Given the description of an element on the screen output the (x, y) to click on. 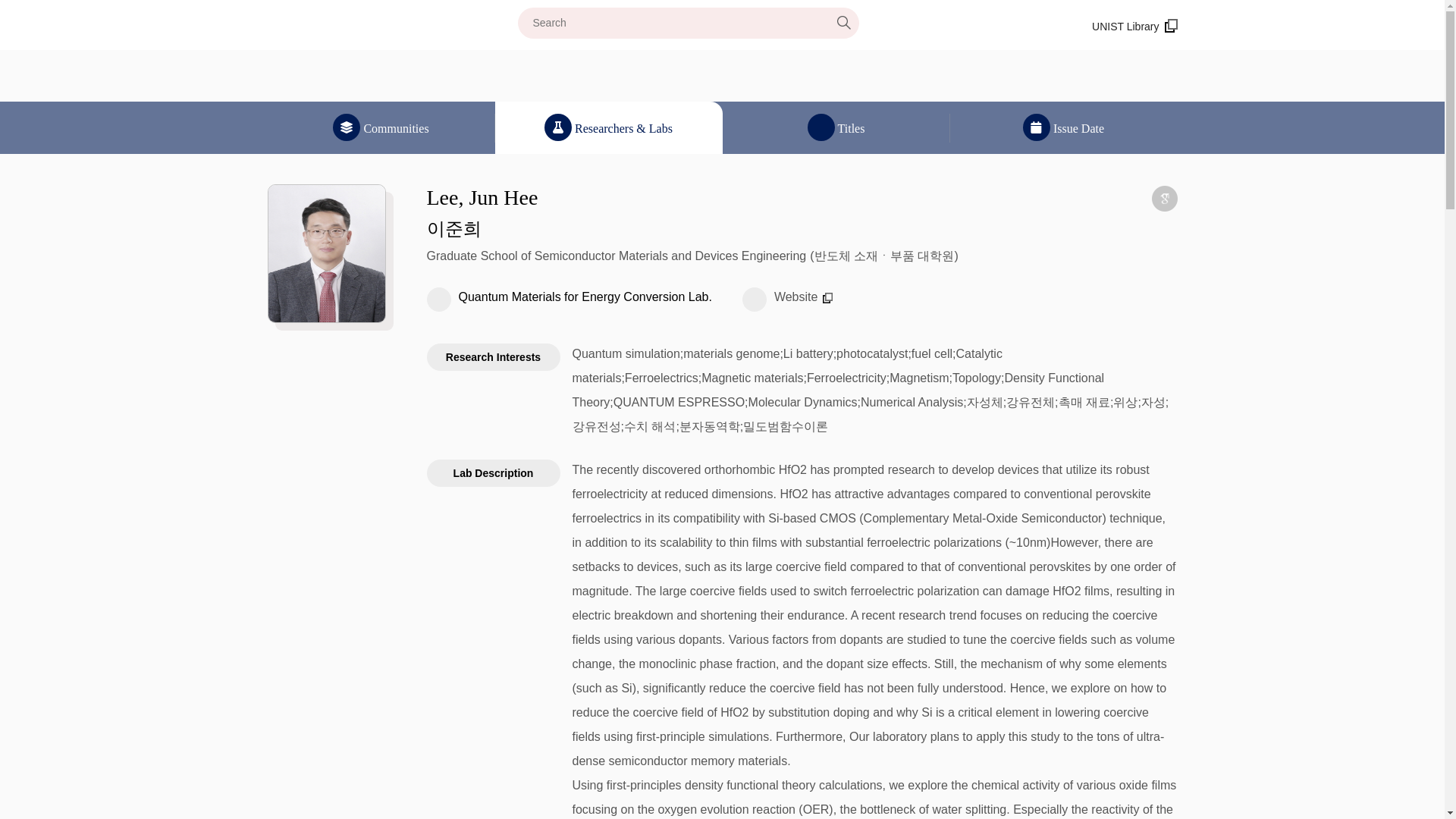
Google Scholar (1163, 198)
Research Gate (1067, 198)
Website (803, 296)
Issue Date (1062, 127)
Search (843, 22)
Titles (835, 127)
Communities (380, 127)
Search (676, 22)
Researcher ID (1034, 198)
Scopus (1131, 198)
ORCiD (1099, 198)
UNIST Library (1134, 26)
